Given the description of an element on the screen output the (x, y) to click on. 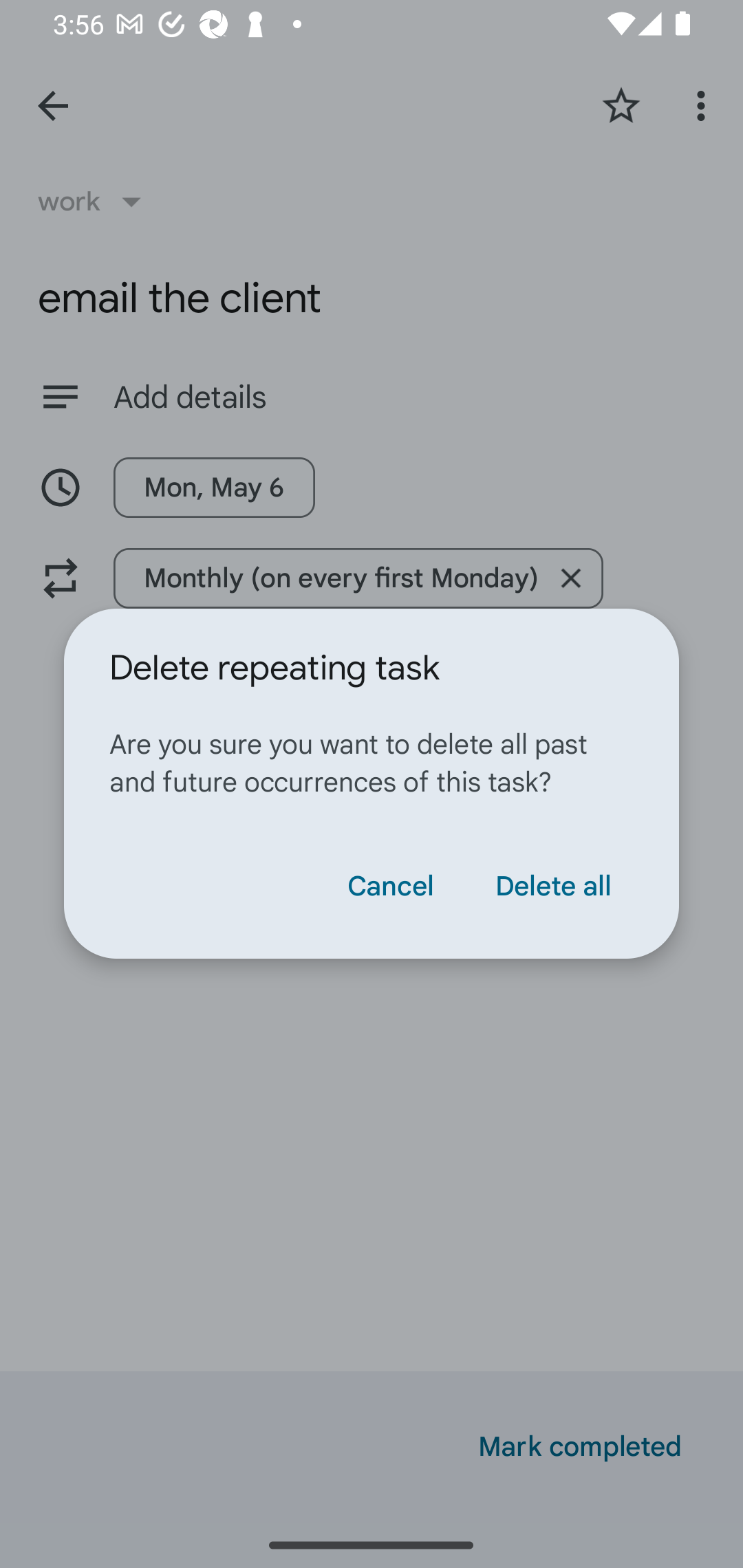
Cancel (389, 885)
Delete all (552, 885)
